Given the description of an element on the screen output the (x, y) to click on. 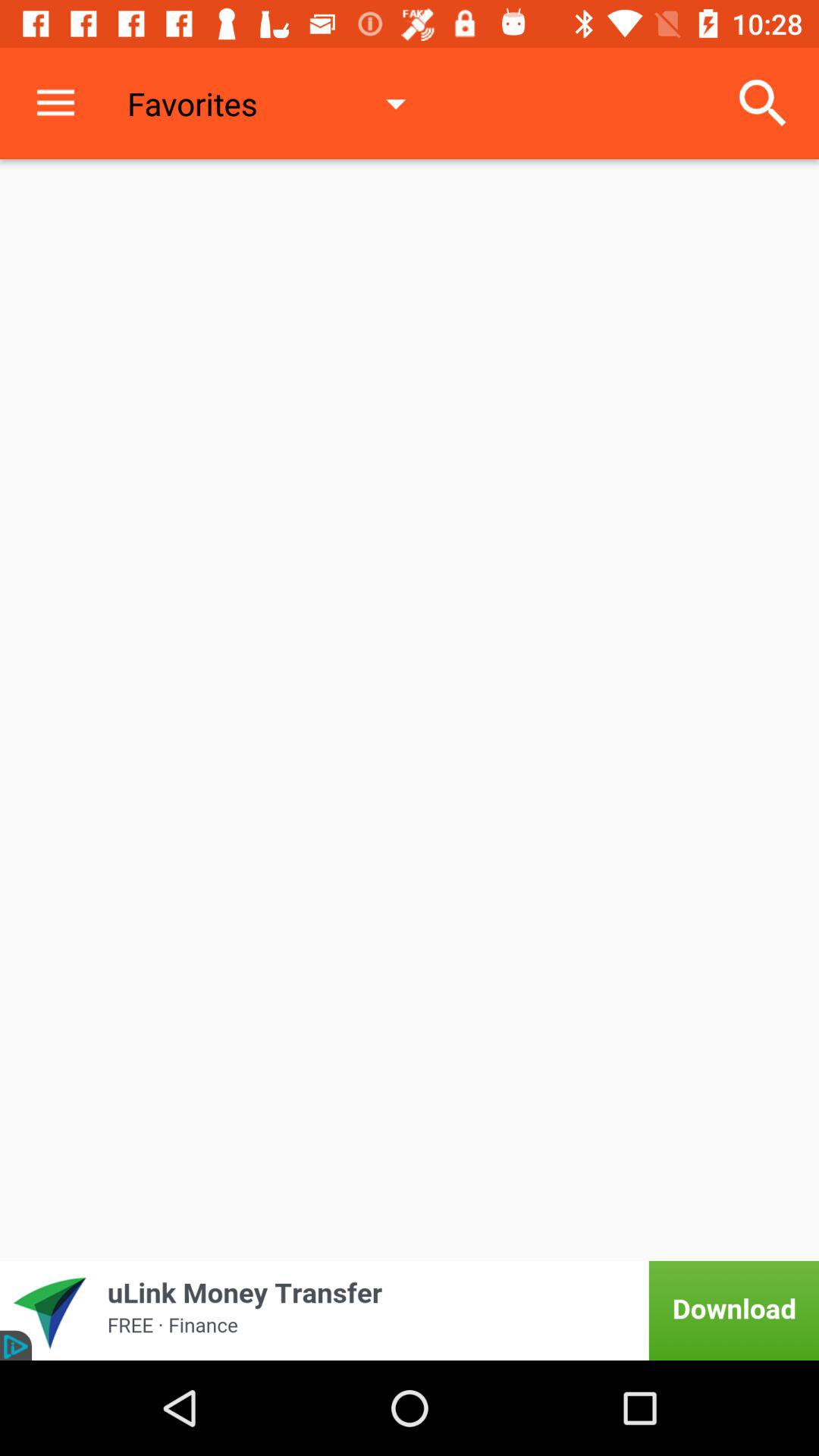
open advertisement (409, 1310)
